Given the description of an element on the screen output the (x, y) to click on. 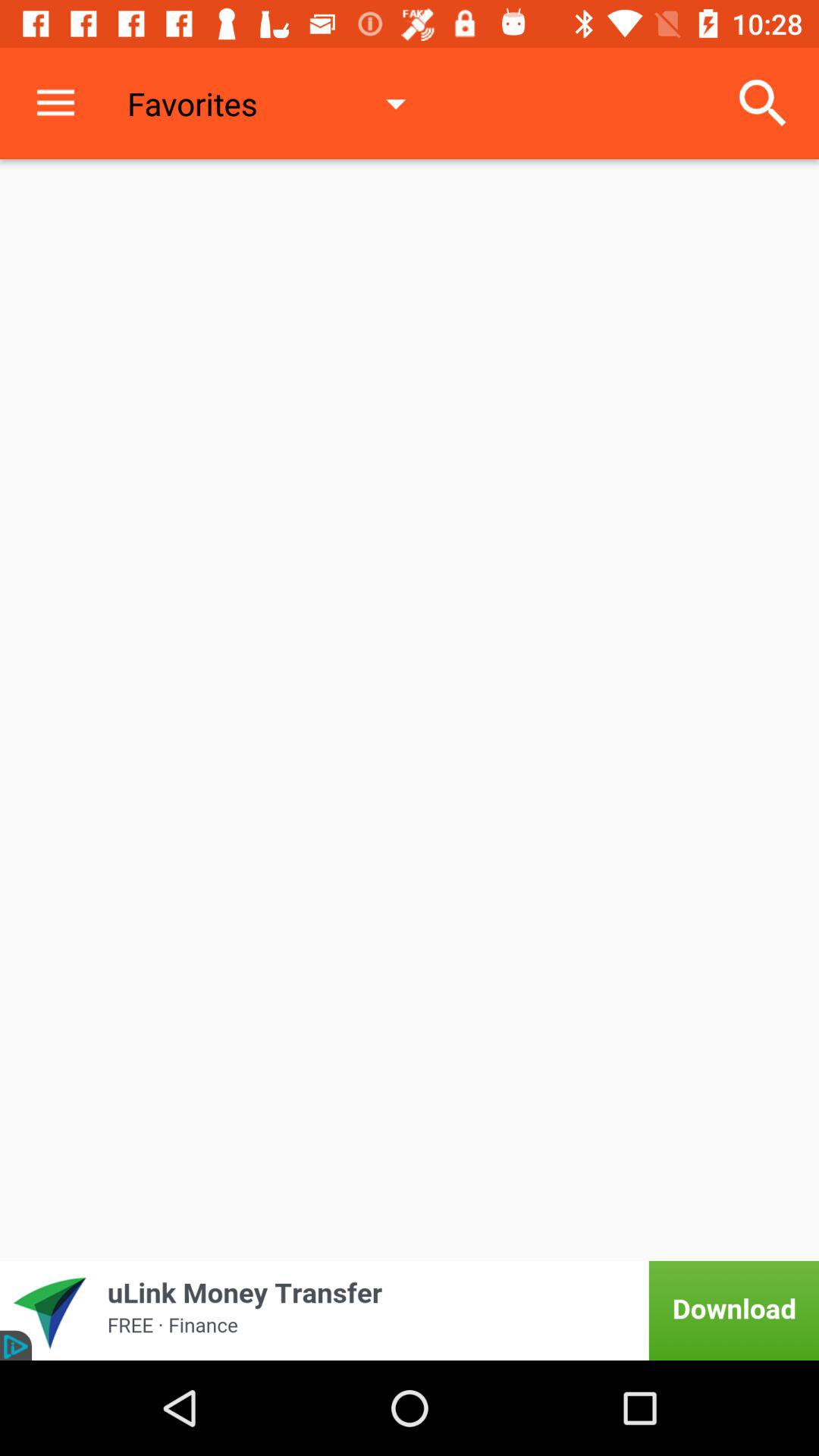
open advertisement (409, 1310)
